Given the description of an element on the screen output the (x, y) to click on. 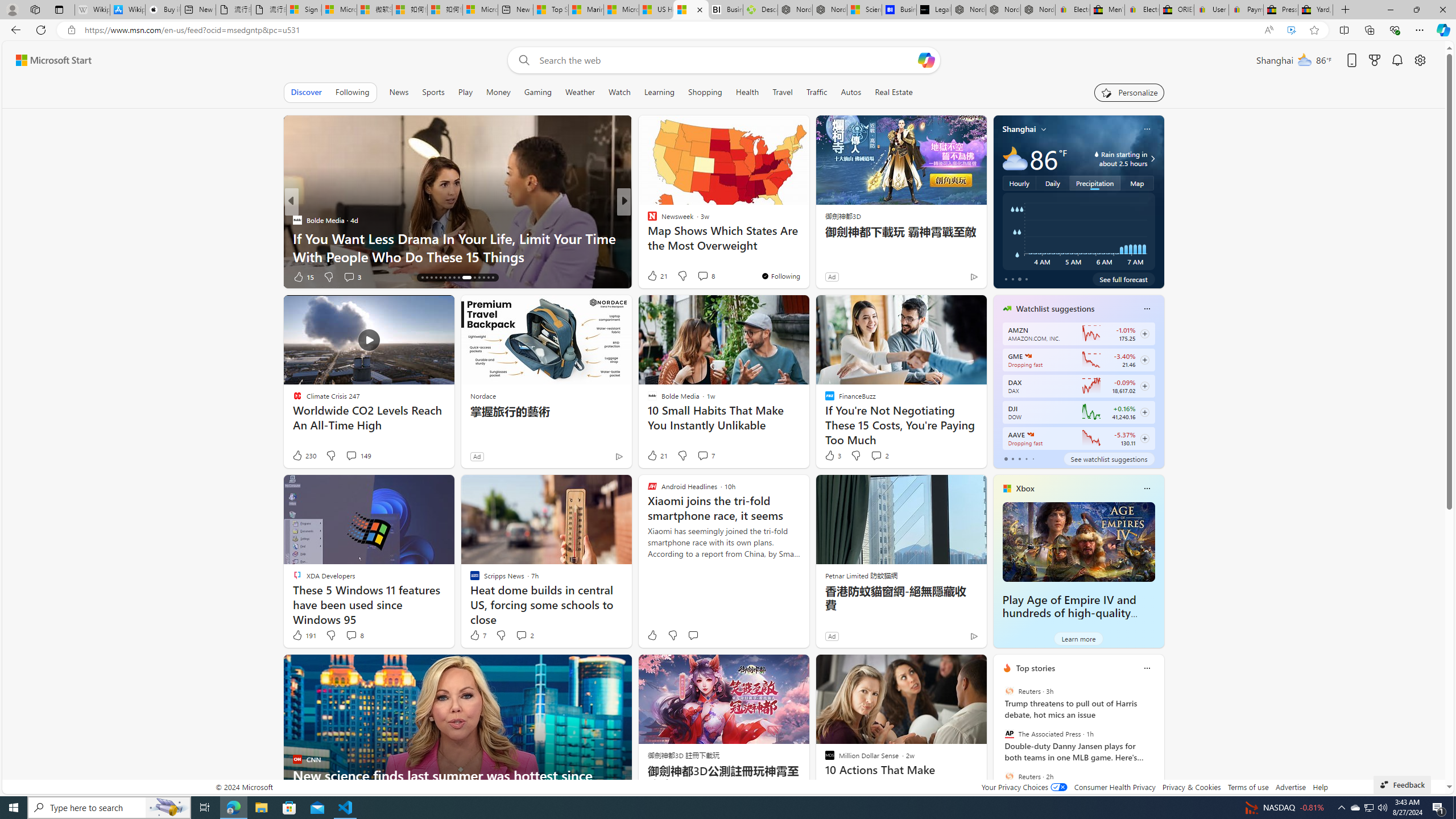
tab-4 (1032, 458)
next (1158, 741)
Precipitation (1094, 183)
Hide this story (952, 668)
